Given the description of an element on the screen output the (x, y) to click on. 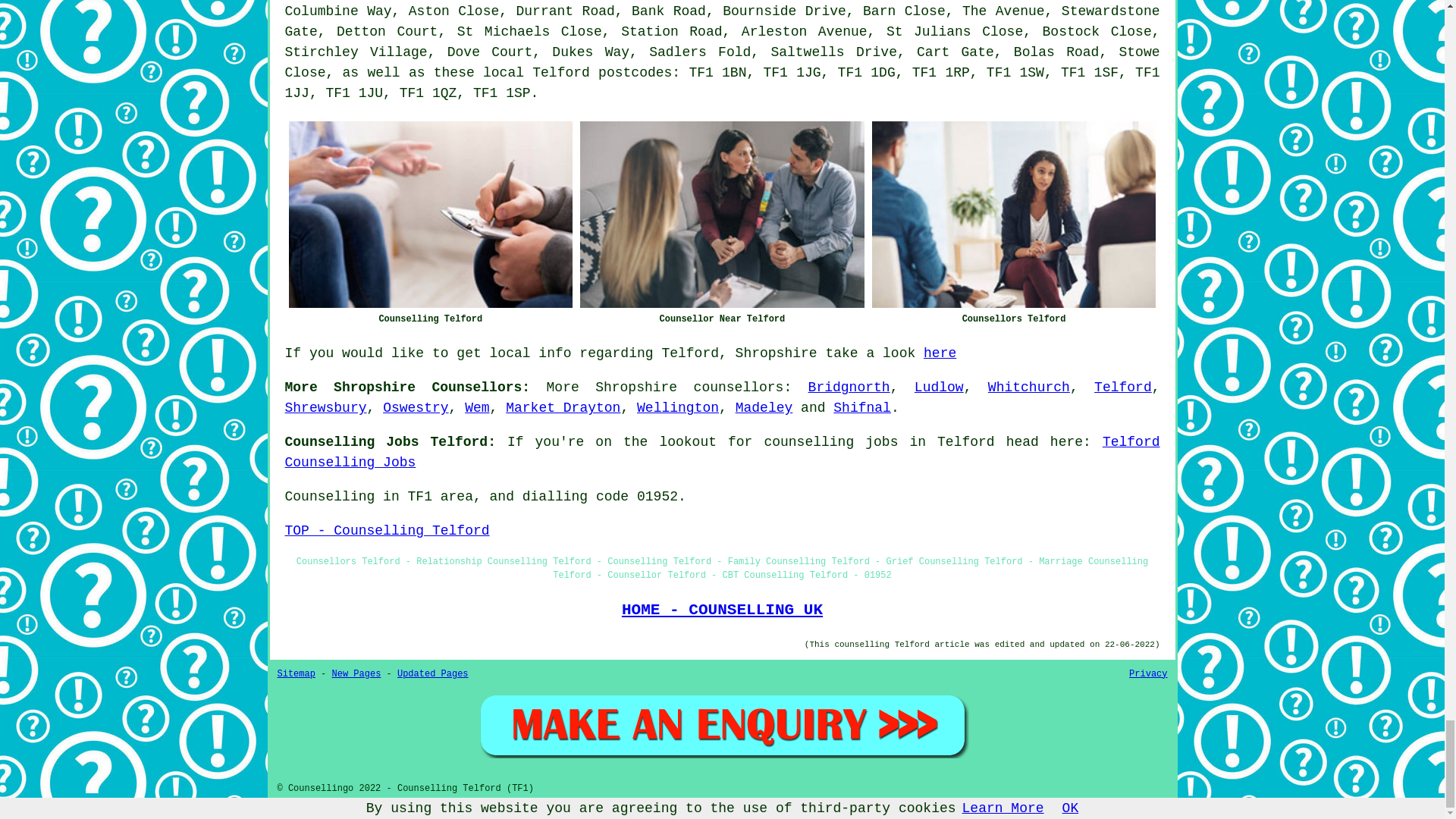
ENQUIRE ABOUT COUNSELLING TELFORD (722, 725)
Counsellor Near Me Telford (721, 214)
Counsellors Telford UK (1014, 214)
Counselling Telford (430, 214)
